Given the description of an element on the screen output the (x, y) to click on. 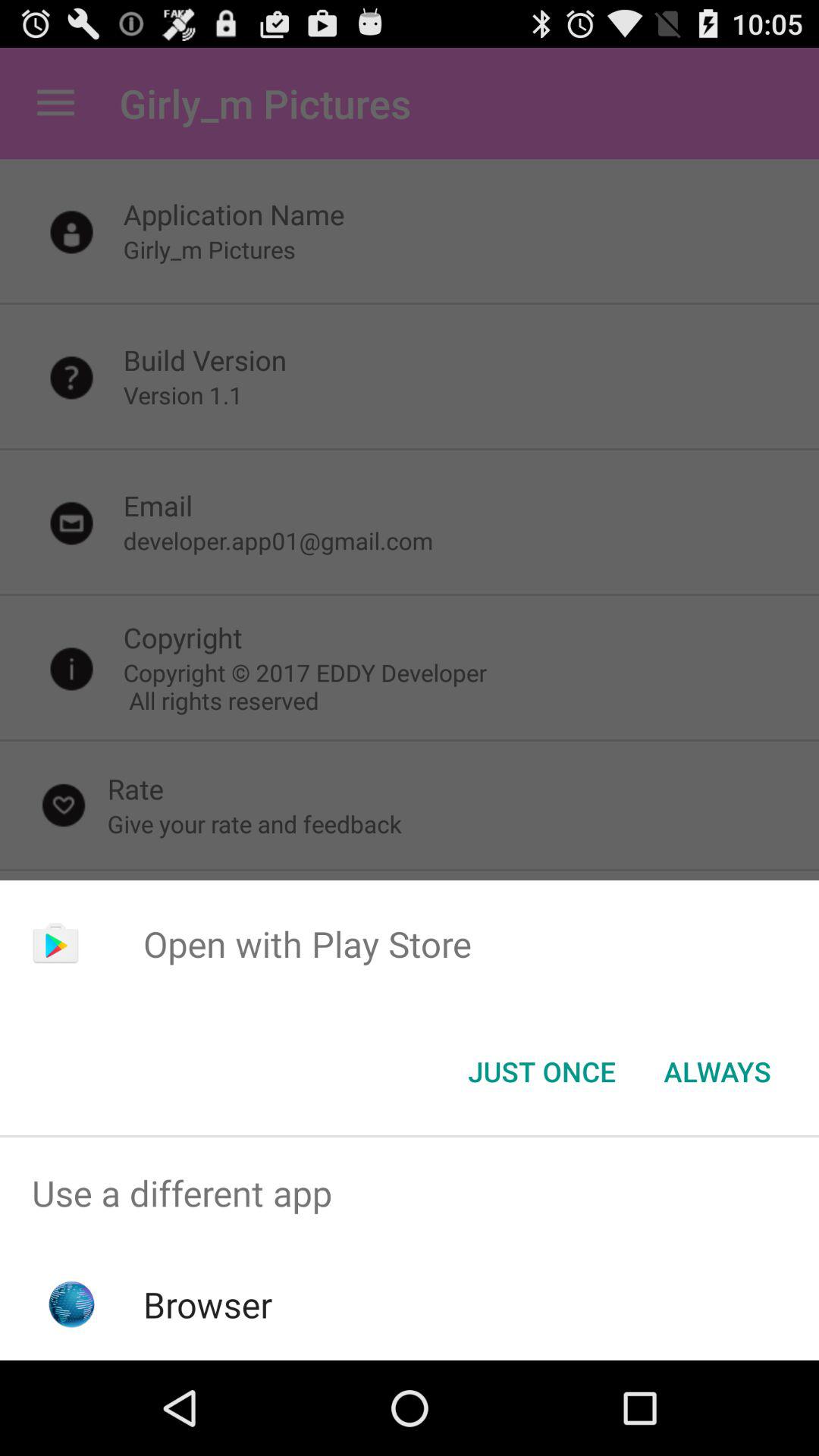
press just once (541, 1071)
